Given the description of an element on the screen output the (x, y) to click on. 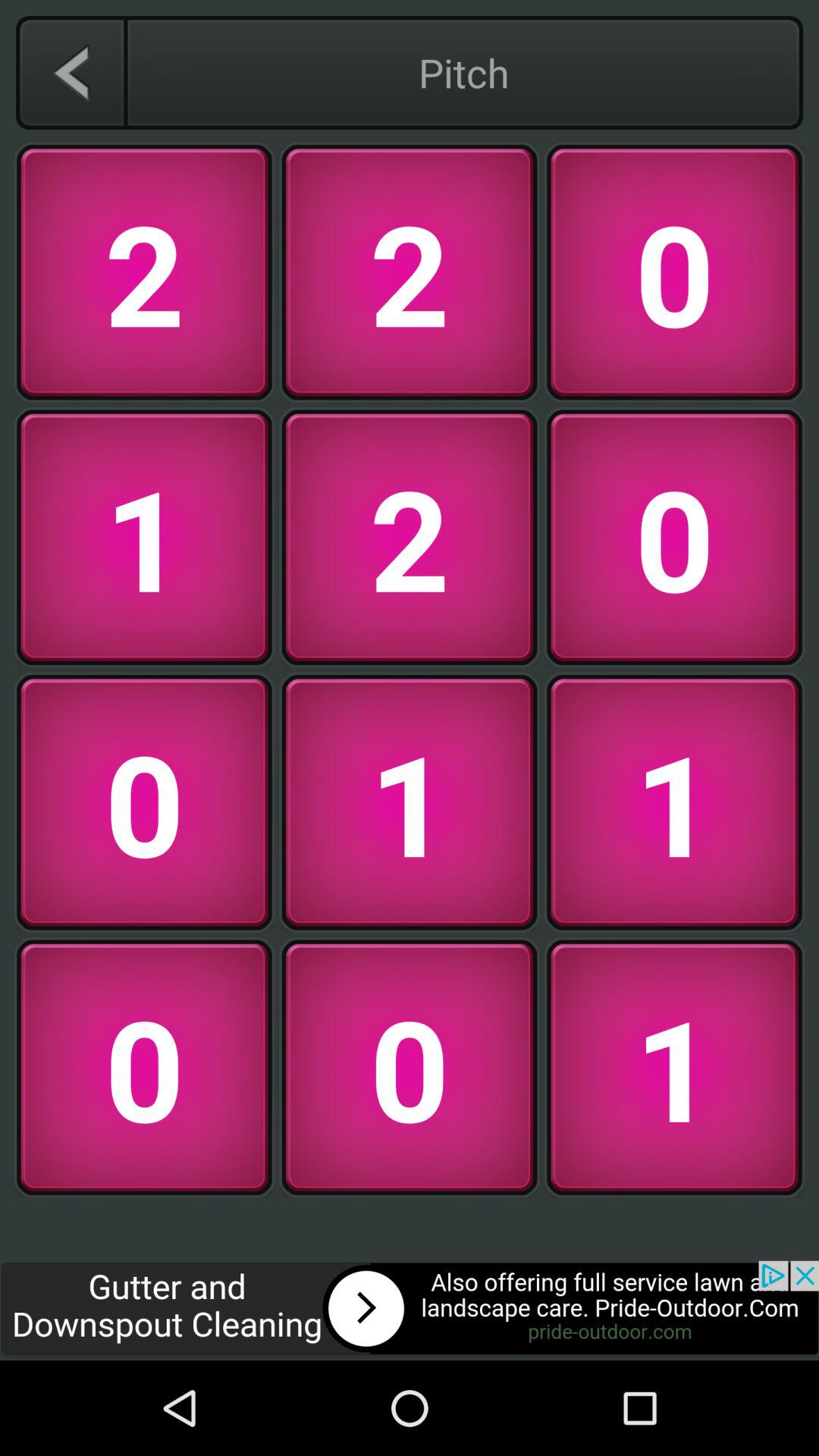
open icon above the 2 icon (70, 72)
